Given the description of an element on the screen output the (x, y) to click on. 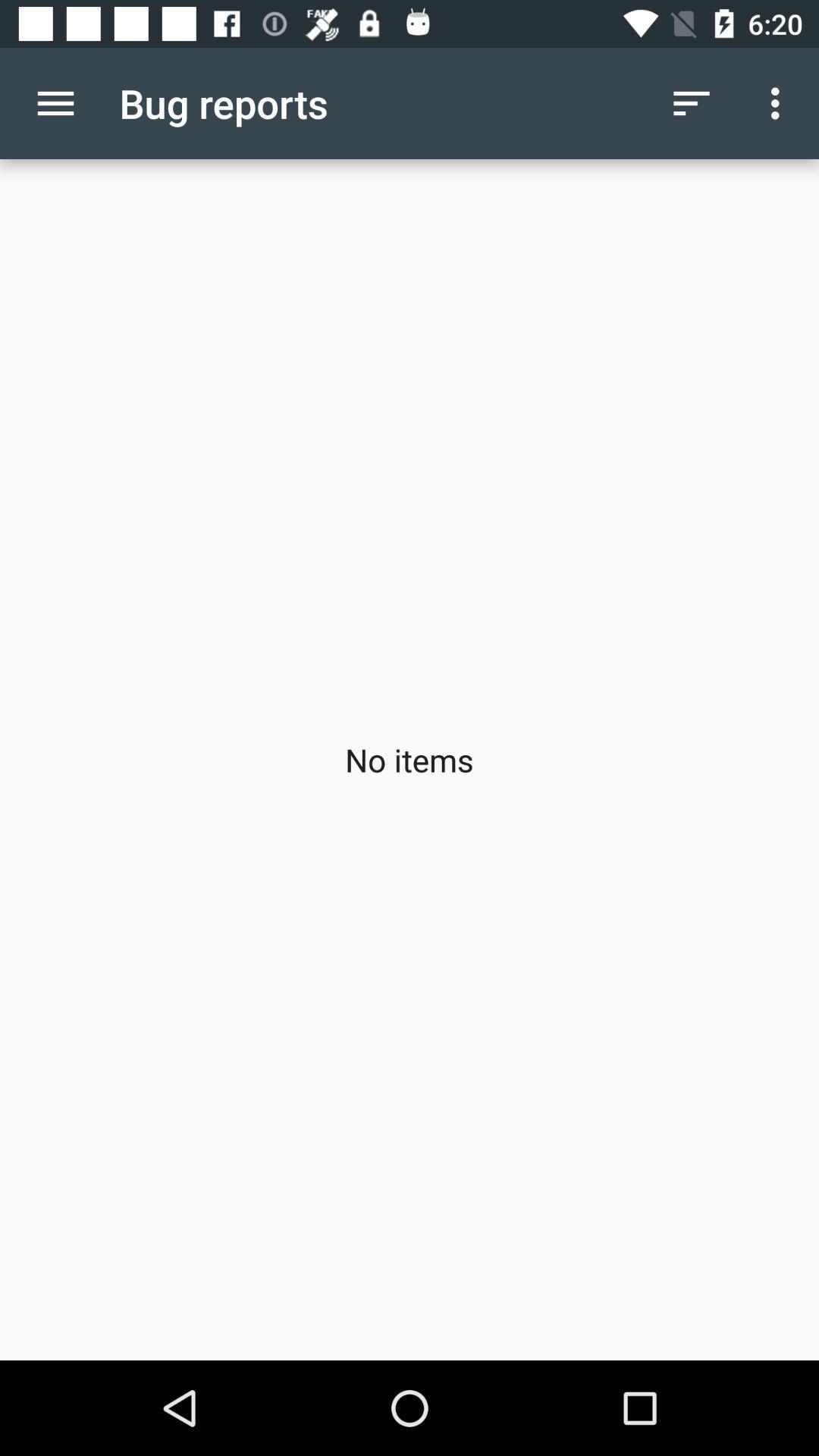
click item above no items icon (779, 103)
